Given the description of an element on the screen output the (x, y) to click on. 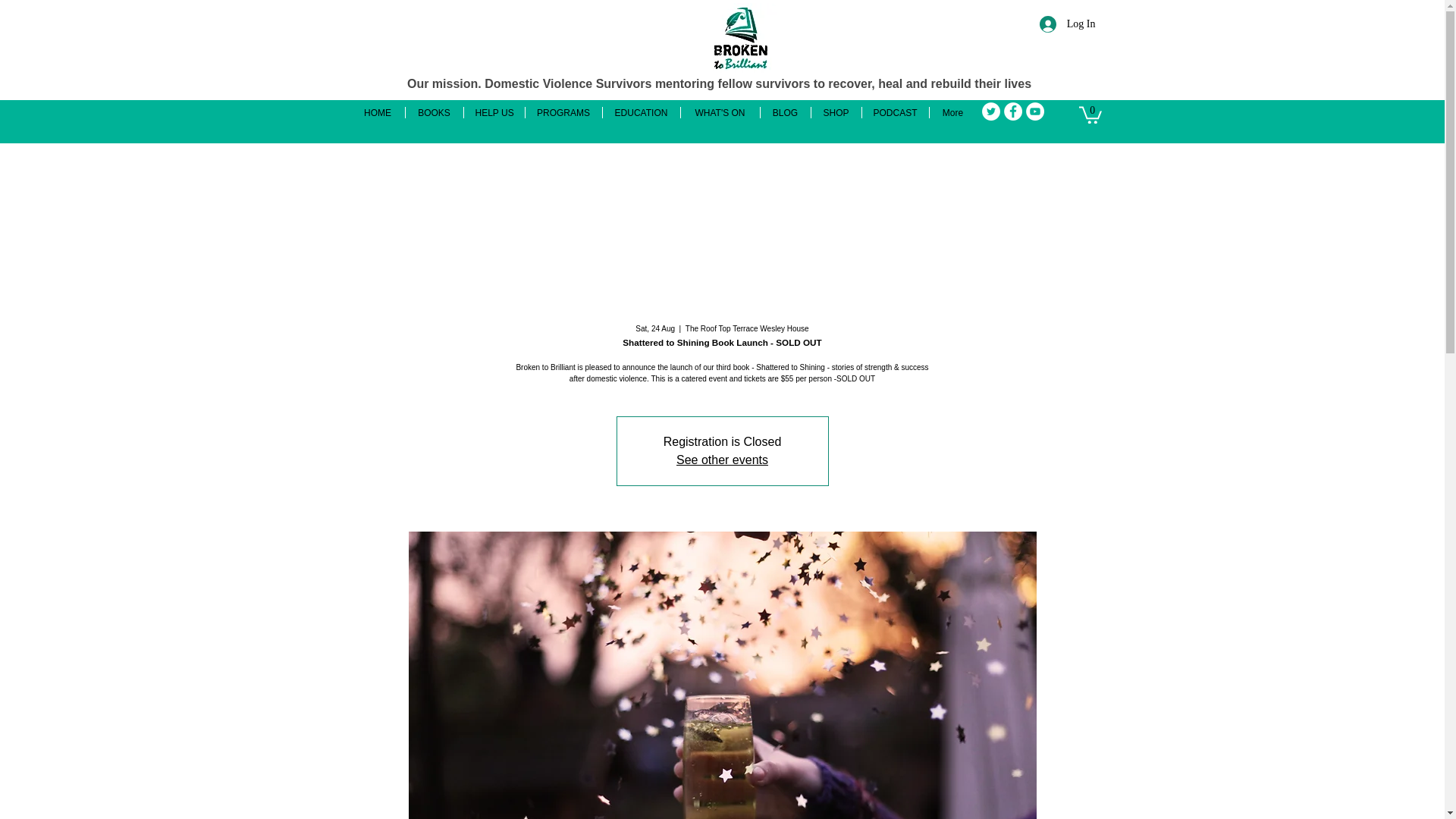
Site Search (1011, 62)
BLOG (784, 112)
EDUCATION (640, 112)
0 (1089, 113)
HELP US (494, 112)
PROGRAMS (562, 112)
See other events (722, 459)
PODCAST (894, 112)
SHOP (835, 112)
WHAT'S ON (720, 112)
Log In (1067, 23)
BOOKS (433, 112)
0 (1089, 113)
HOME (377, 112)
